Given the description of an element on the screen output the (x, y) to click on. 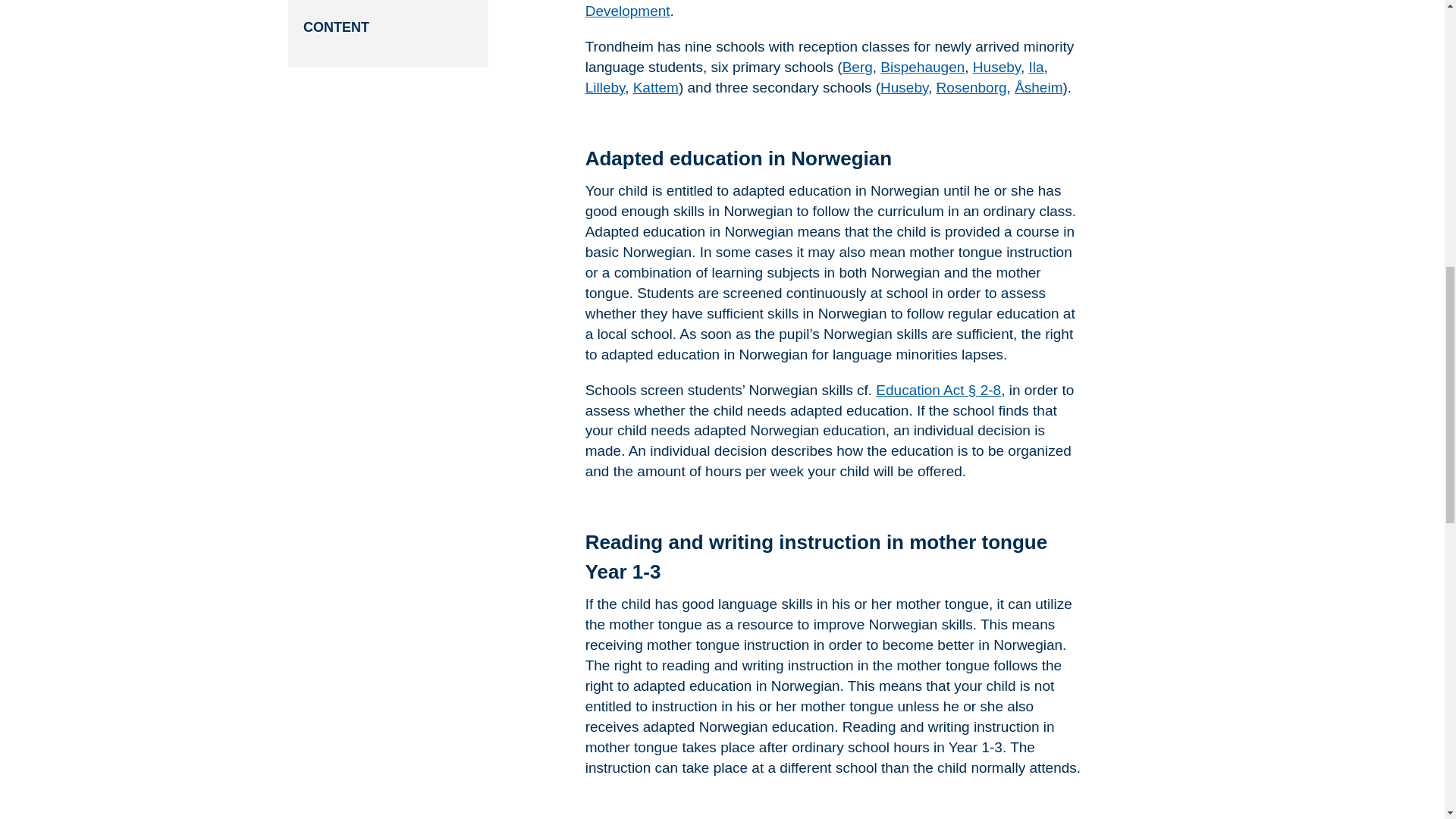
Ila (1035, 66)
Department for Education and Early Development (810, 9)
Lilleby (604, 87)
Berg (857, 66)
Kattem (655, 87)
Rosenborg (971, 87)
Huseby (996, 66)
Bispehaugen (921, 66)
Huseby (904, 87)
